Given the description of an element on the screen output the (x, y) to click on. 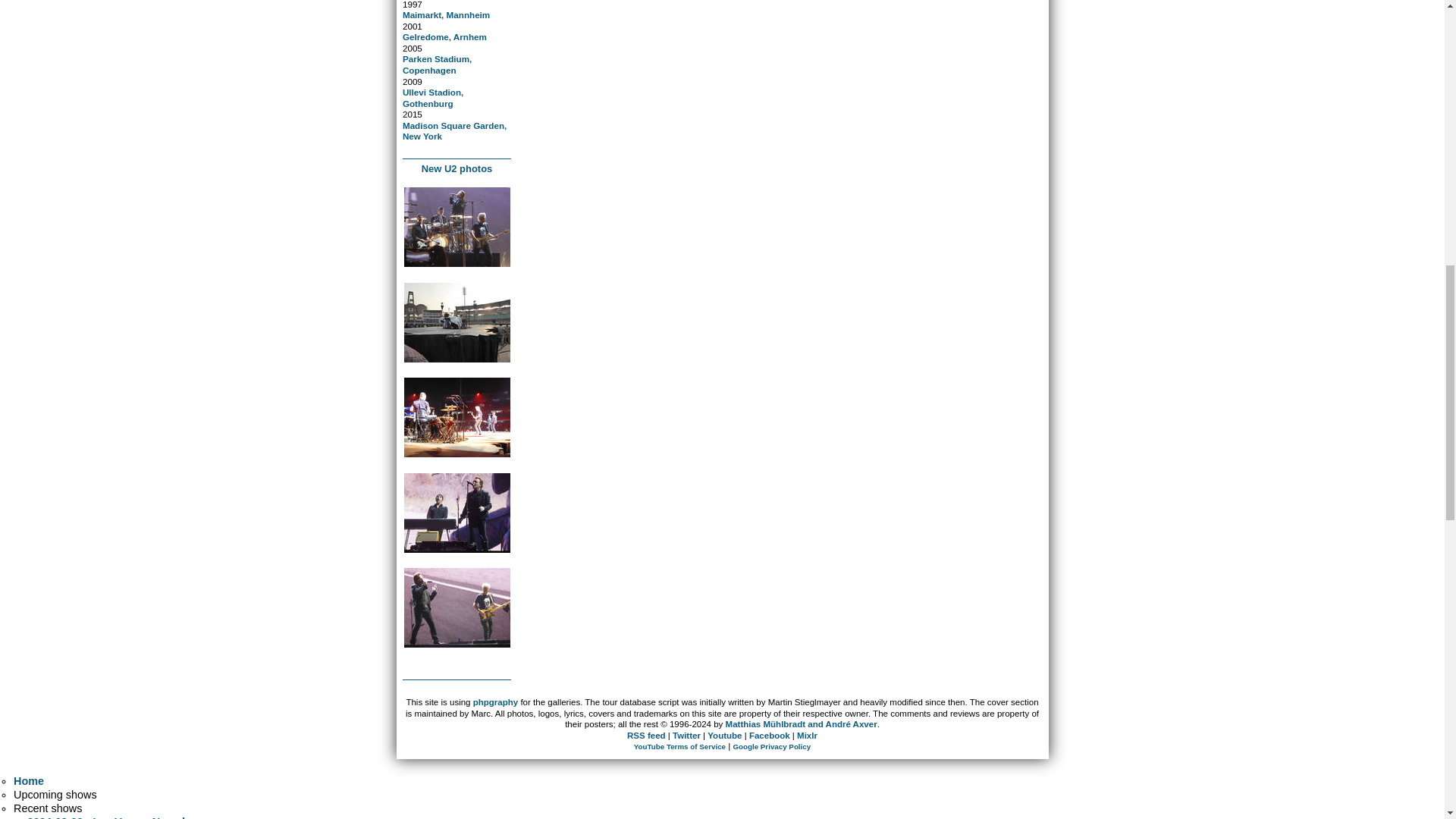
Maimarkt, Mannheim (446, 14)
Ullevi Stadion, Gothenburg (433, 97)
Parken Stadium, Copenhagen (437, 64)
New U2 photos (457, 168)
Madison Square Garden, New York (454, 130)
Gelredome, Arnhem (444, 36)
